Given the description of an element on the screen output the (x, y) to click on. 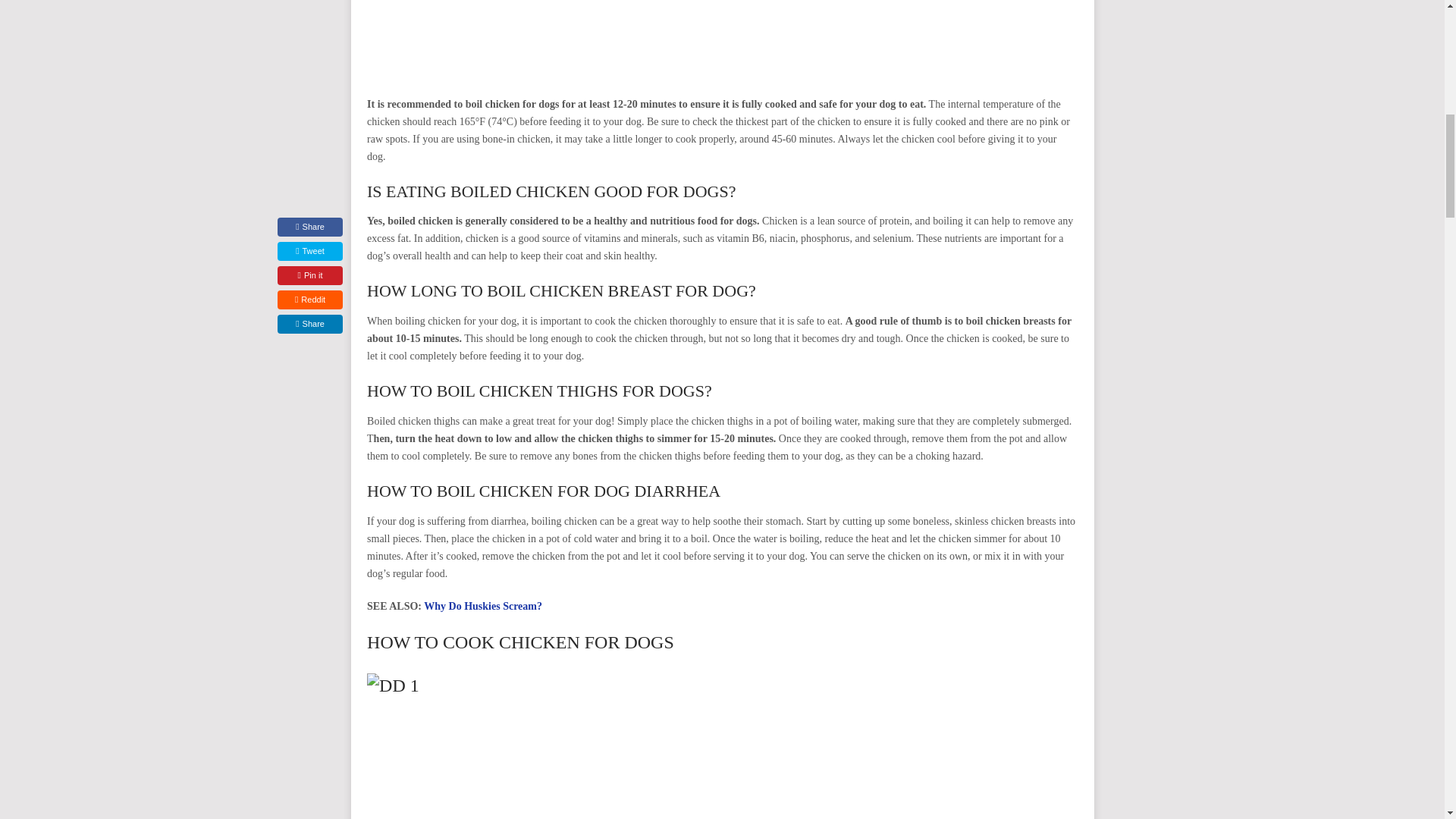
How Long To Boil Chicken For Dogs? 2 (721, 746)
How Long To Boil Chicken For Dogs? 1 (721, 37)
Why Do Huskies Scream? (482, 605)
